Given the description of an element on the screen output the (x, y) to click on. 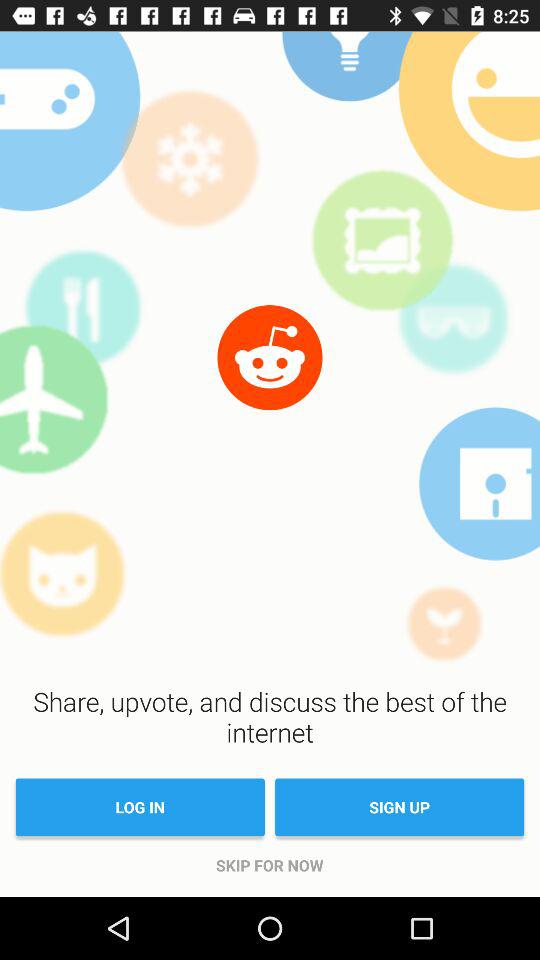
press item below share upvote and (140, 807)
